Given the description of an element on the screen output the (x, y) to click on. 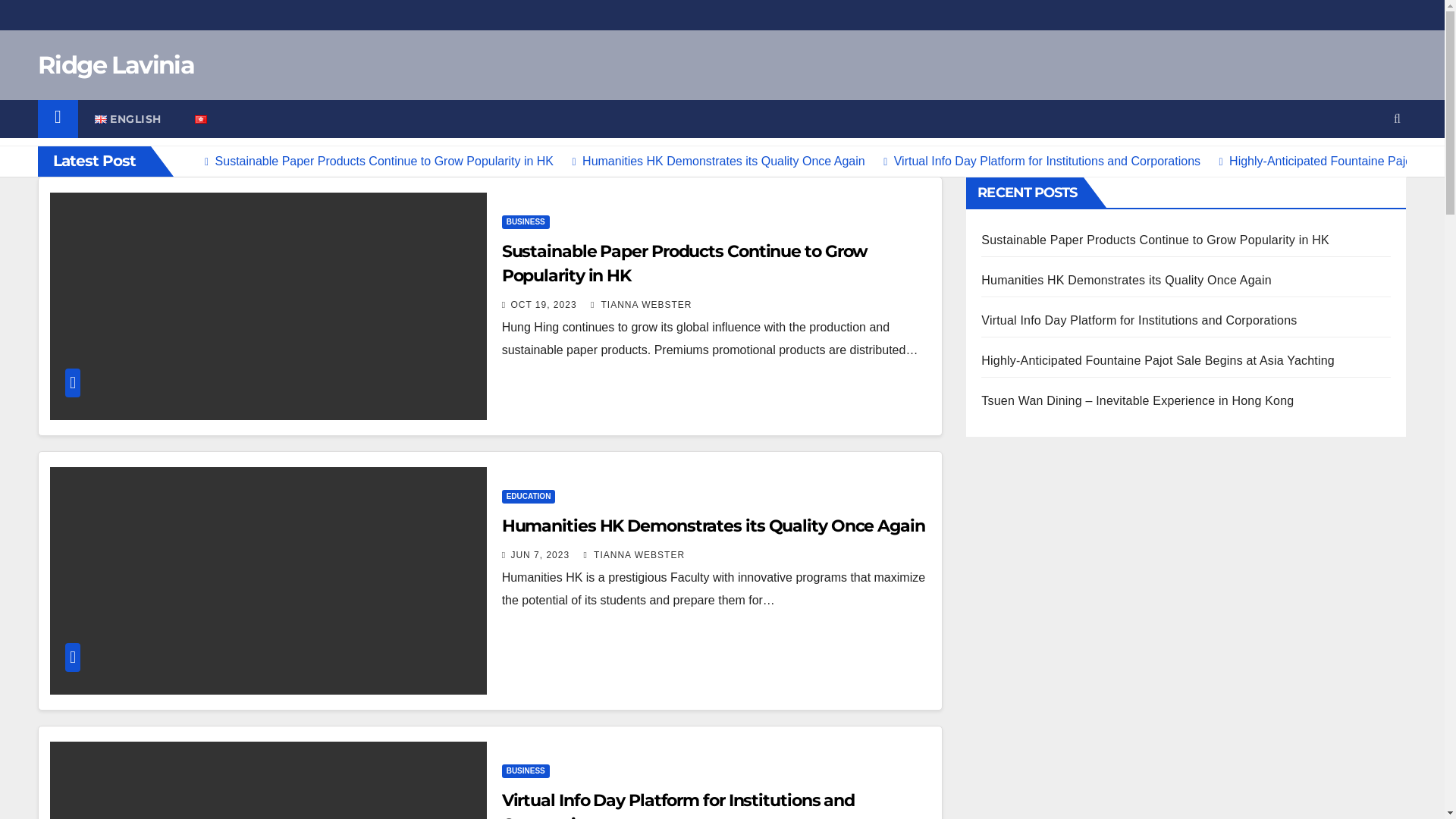
OCT 19, 2023 Element type: text (543, 304)
ENGLISH Element type: text (128, 119)
Sustainable Paper Products Continue to Grow Popularity in HK Element type: text (1154, 239)
TIANNA WEBSTER Element type: text (634, 554)
Ridge Lavinia Element type: text (115, 64)
Sustainable Paper Products Continue to Grow Popularity in HK Element type: text (373, 160)
Virtual Info Day Platform for Institutions and Corporations Element type: text (1138, 319)
Humanities HK Demonstrates its Quality Once Again Element type: text (713, 525)
BUSINESS Element type: text (525, 771)
EDUCATION Element type: text (528, 496)
JUN 7, 2023 Element type: text (539, 554)
BUSINESS Element type: text (525, 222)
TIANNA WEBSTER Element type: text (641, 304)
Humanities HK Demonstrates its Quality Once Again Element type: text (1125, 279)
Sustainable Paper Products Continue to Grow Popularity in HK Element type: text (685, 263)
Virtual Info Day Platform for Institutions and Corporations Element type: text (1035, 160)
Humanities HK Demonstrates its Quality Once Again Element type: text (712, 160)
